Given the description of an element on the screen output the (x, y) to click on. 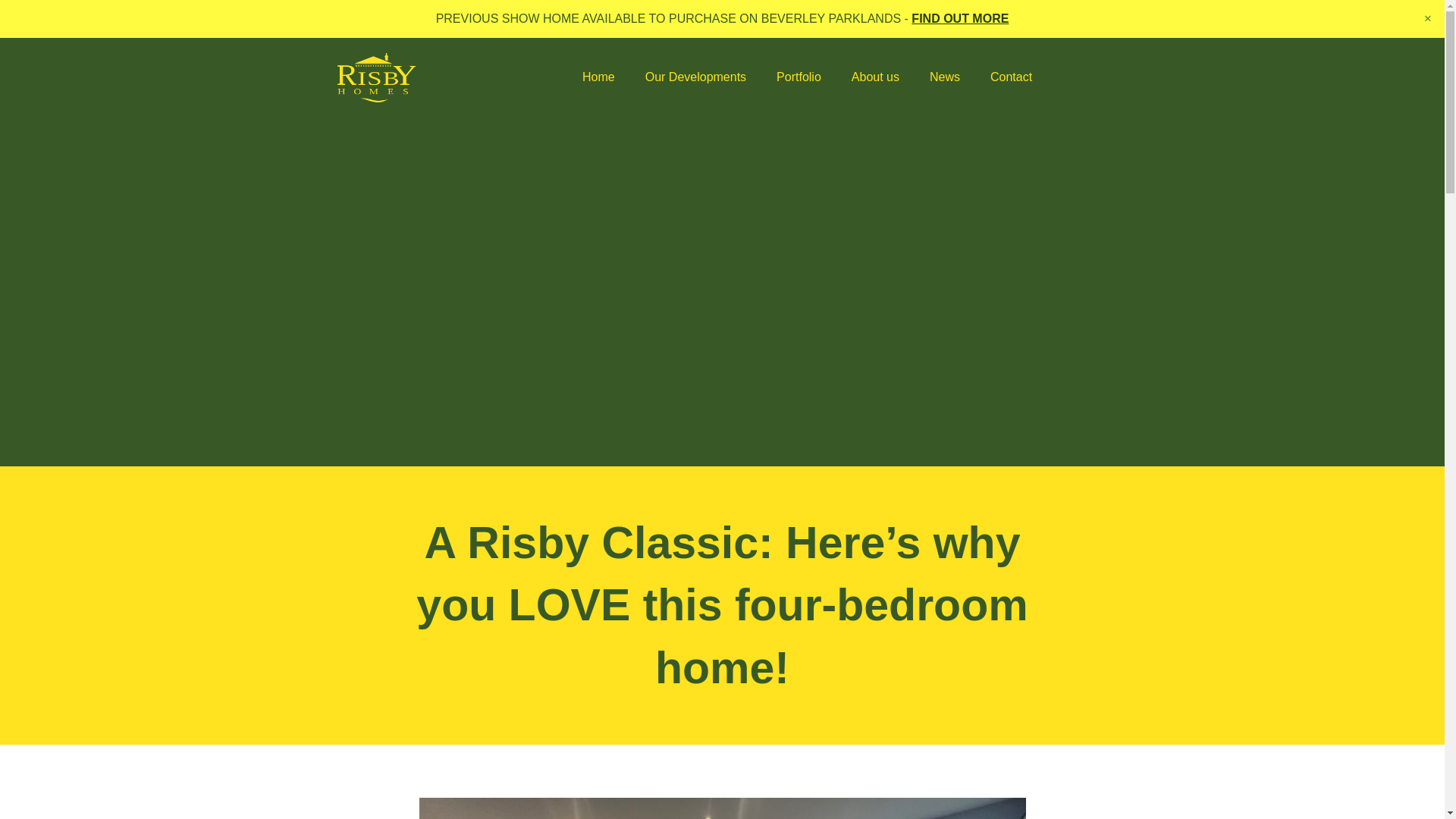
News (944, 77)
Our Developments (695, 77)
Contact (1010, 77)
Home (598, 77)
Portfolio (798, 77)
About us (874, 77)
FIND OUT MORE (960, 18)
